Given the description of an element on the screen output the (x, y) to click on. 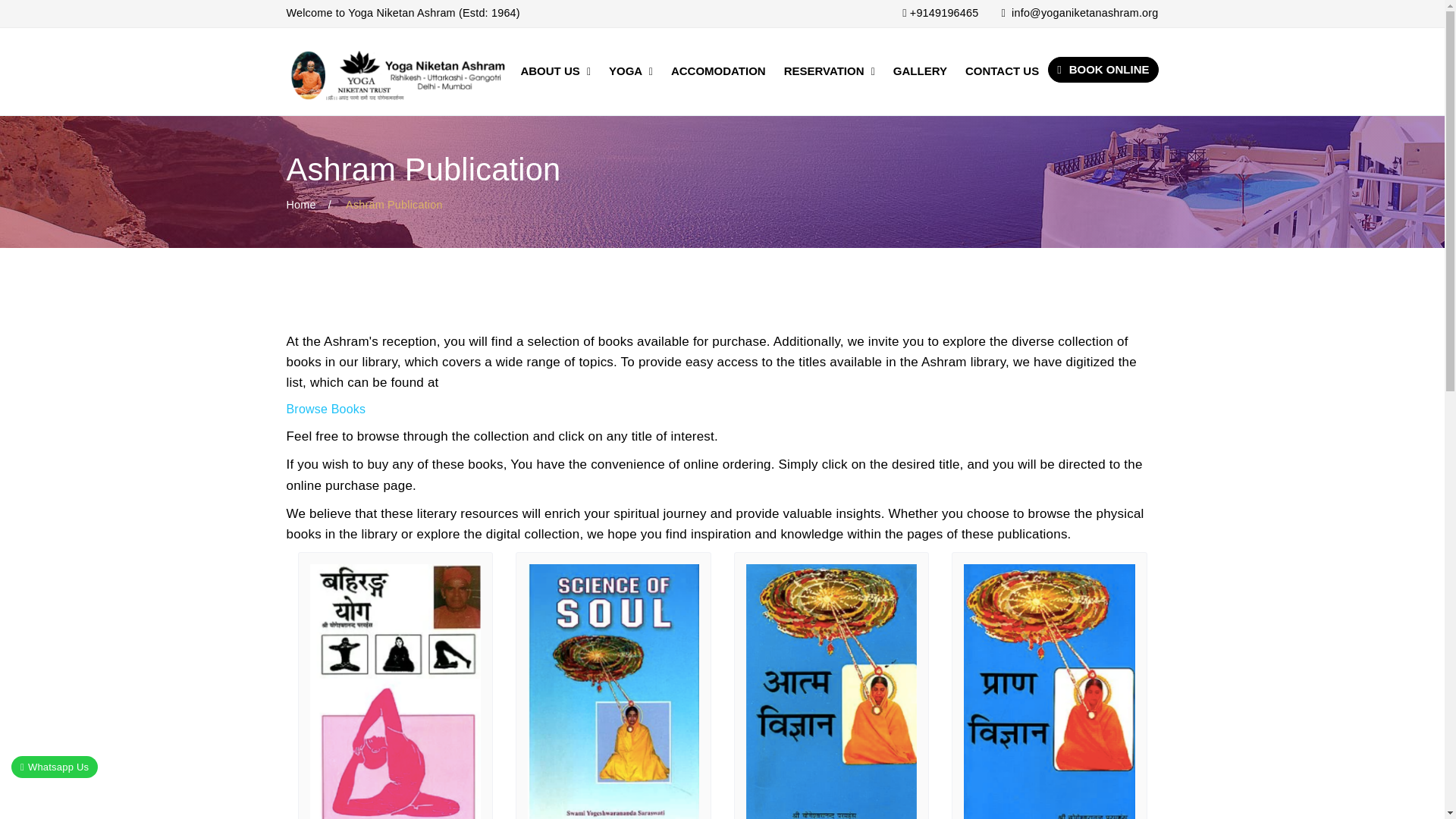
BOOK ONLINE (1102, 69)
ACCOMODATION (718, 70)
Home (300, 204)
Browse Books (326, 408)
ABOUT US (555, 71)
CONTACT US (1002, 70)
RESERVATION (828, 71)
Whatsapp Us (54, 767)
